Given the description of an element on the screen output the (x, y) to click on. 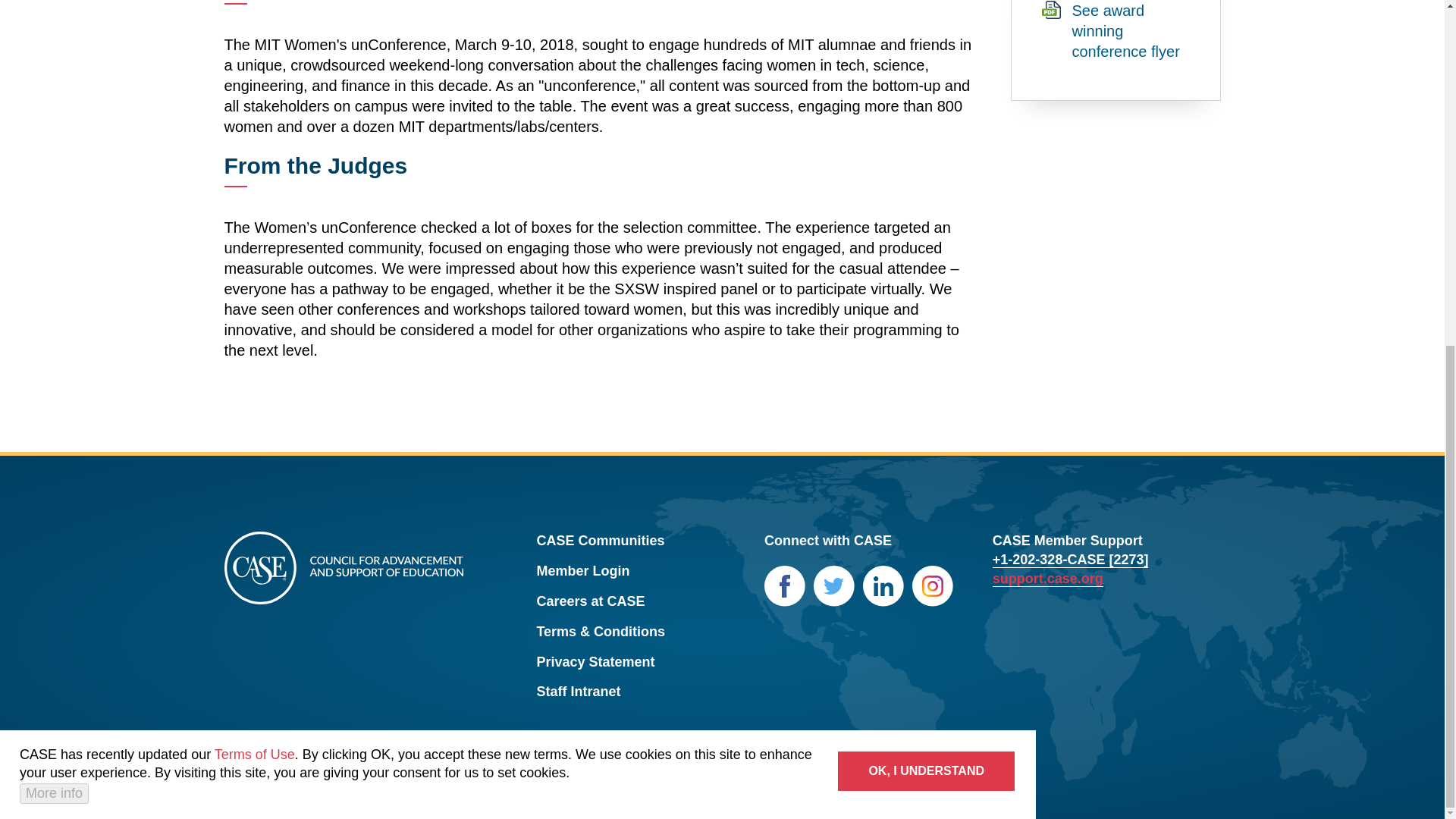
Home (343, 569)
